Given the description of an element on the screen output the (x, y) to click on. 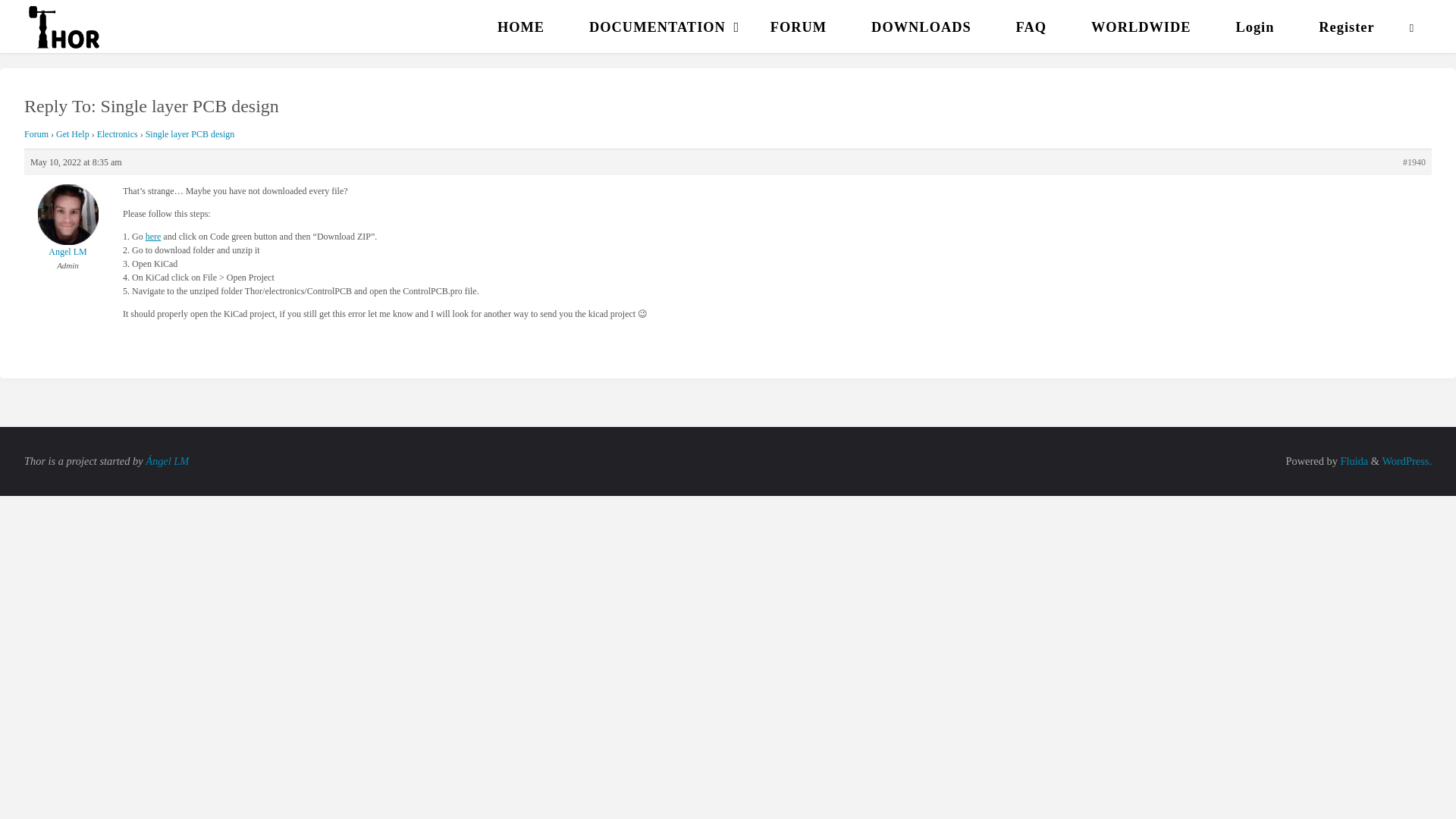
DOWNLOADS (921, 26)
Register (1346, 26)
FAQ (1030, 26)
Fluida WordPress Theme by Cryout Creations (1353, 460)
View Angel LM's profile (68, 221)
DOCUMENTATION (657, 26)
Semantic Personal Publishing Platform (1406, 460)
FORUM (798, 26)
Thor (64, 25)
Login (1254, 26)
